Given the description of an element on the screen output the (x, y) to click on. 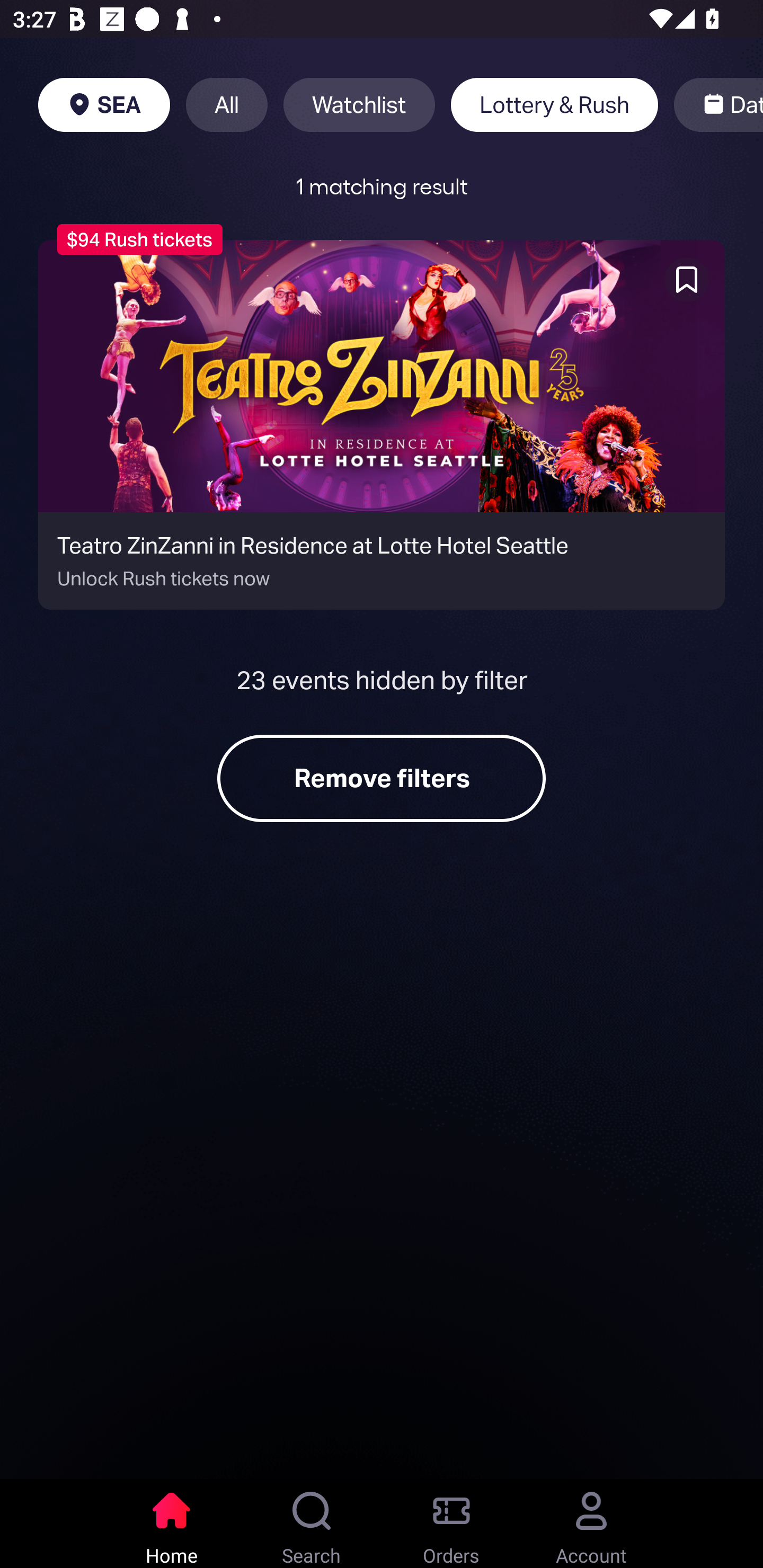
SEA (104, 104)
All (226, 104)
Watchlist (358, 104)
Lottery & Rush (553, 104)
Remove filters (381, 778)
Search (311, 1523)
Orders (451, 1523)
Account (591, 1523)
